Given the description of an element on the screen output the (x, y) to click on. 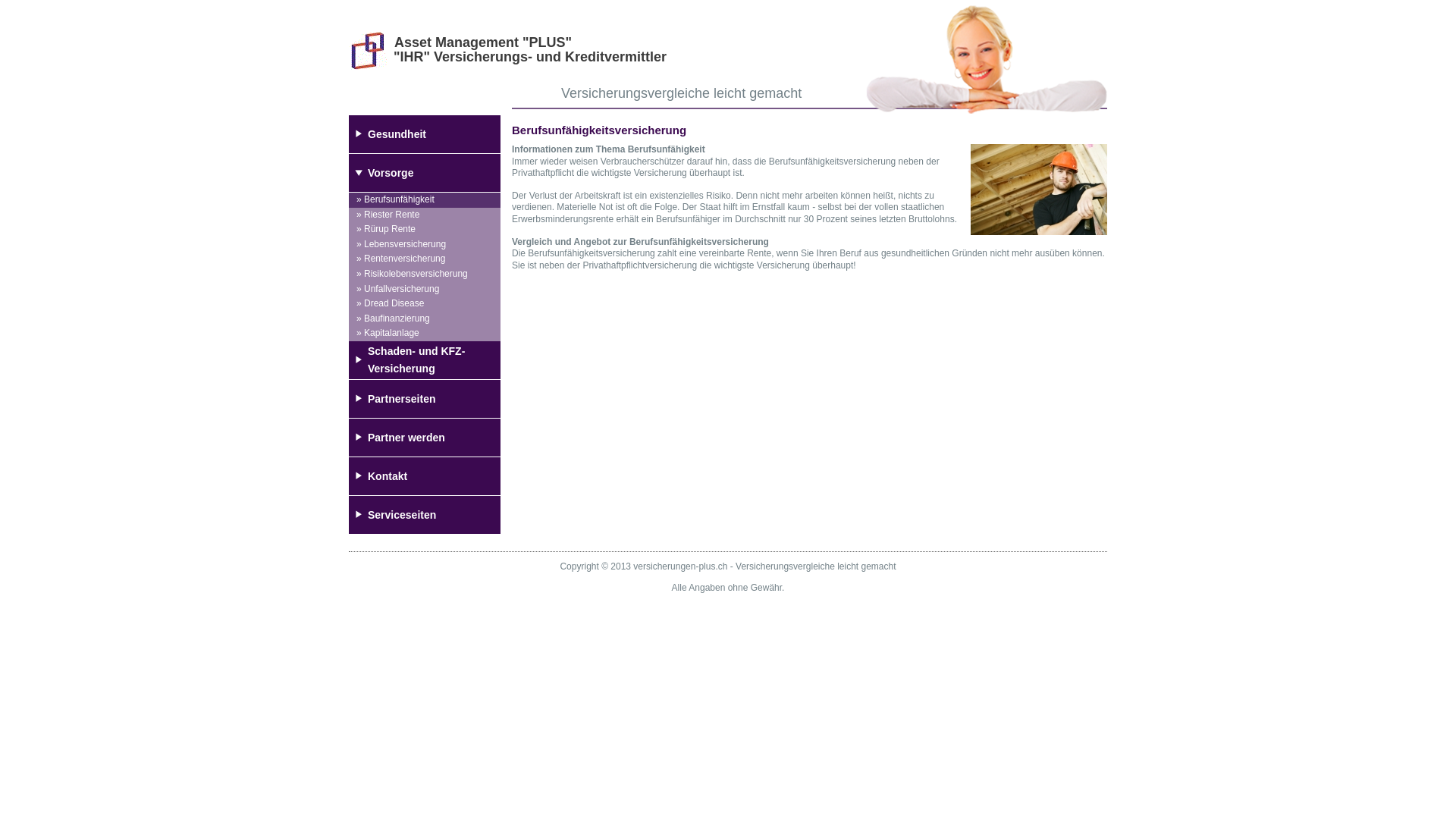
"IHR" Versicherungs- und Kreditvermittler Element type: text (529, 56)
Asset Management "PLUS" Element type: text (482, 42)
